Given the description of an element on the screen output the (x, y) to click on. 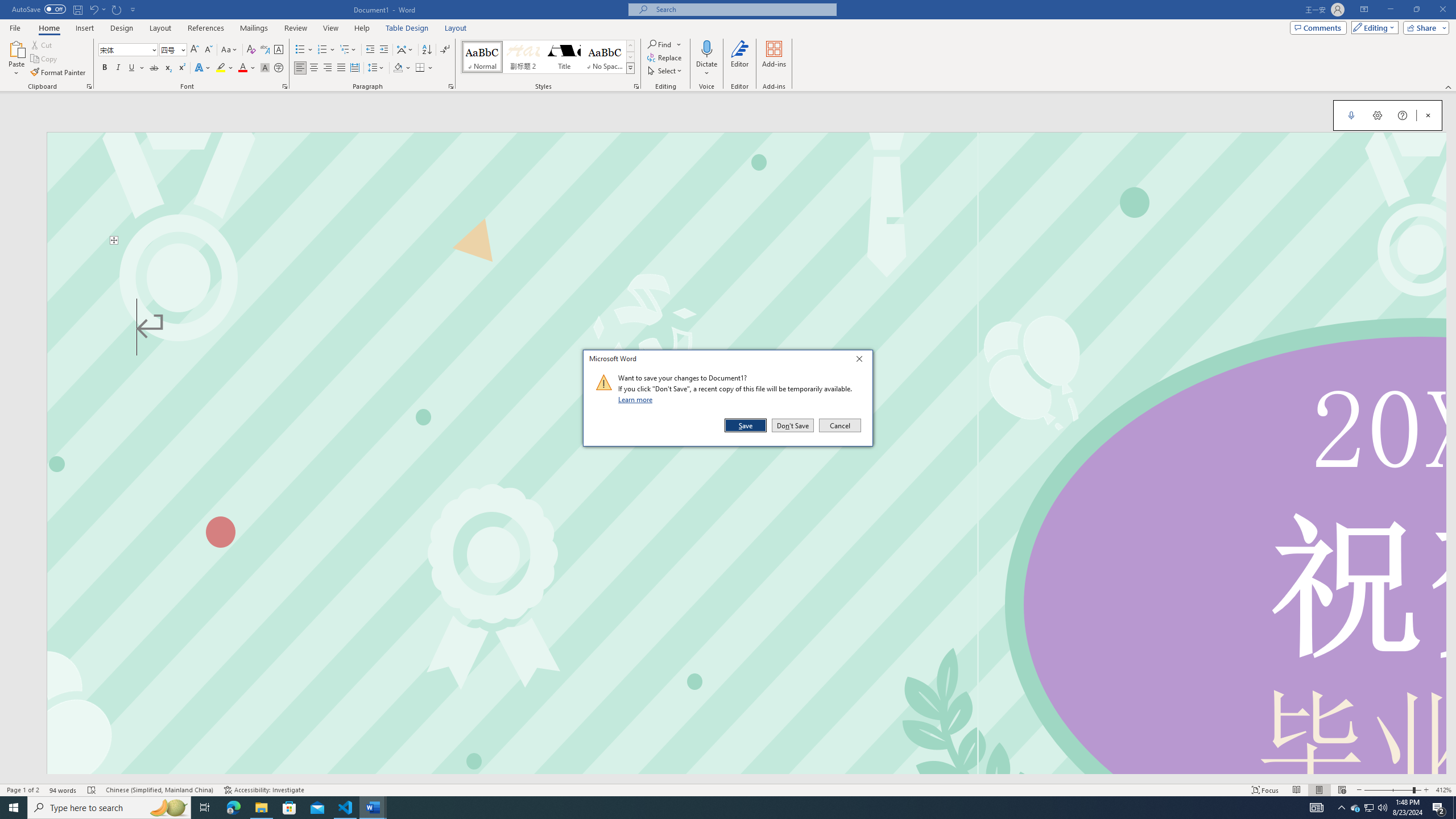
Visual Studio Code - 1 running window (345, 807)
Select (665, 69)
Language Chinese (Simplified, Mainland China) (159, 790)
